Given the description of an element on the screen output the (x, y) to click on. 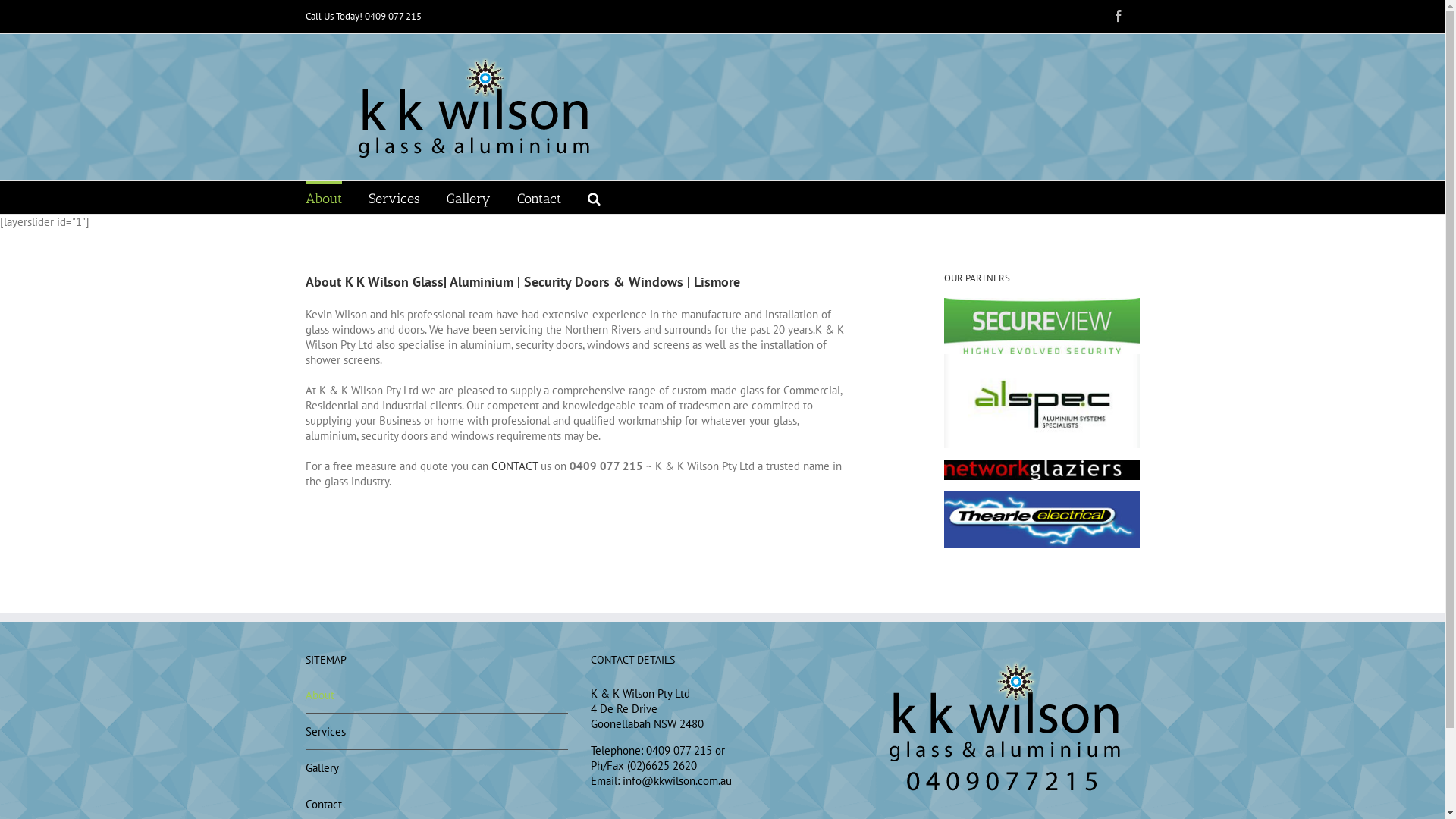
Gallery Element type: text (435, 767)
CONTACT Element type: text (514, 465)
Services Element type: text (435, 731)
Gallery Element type: text (467, 197)
Contact Element type: text (539, 197)
About Element type: text (435, 699)
Services Element type: text (394, 197)
info@kkwilson.com.au Element type: text (676, 780)
About Element type: text (322, 197)
Facebook Element type: hover (1117, 15)
